Given the description of an element on the screen output the (x, y) to click on. 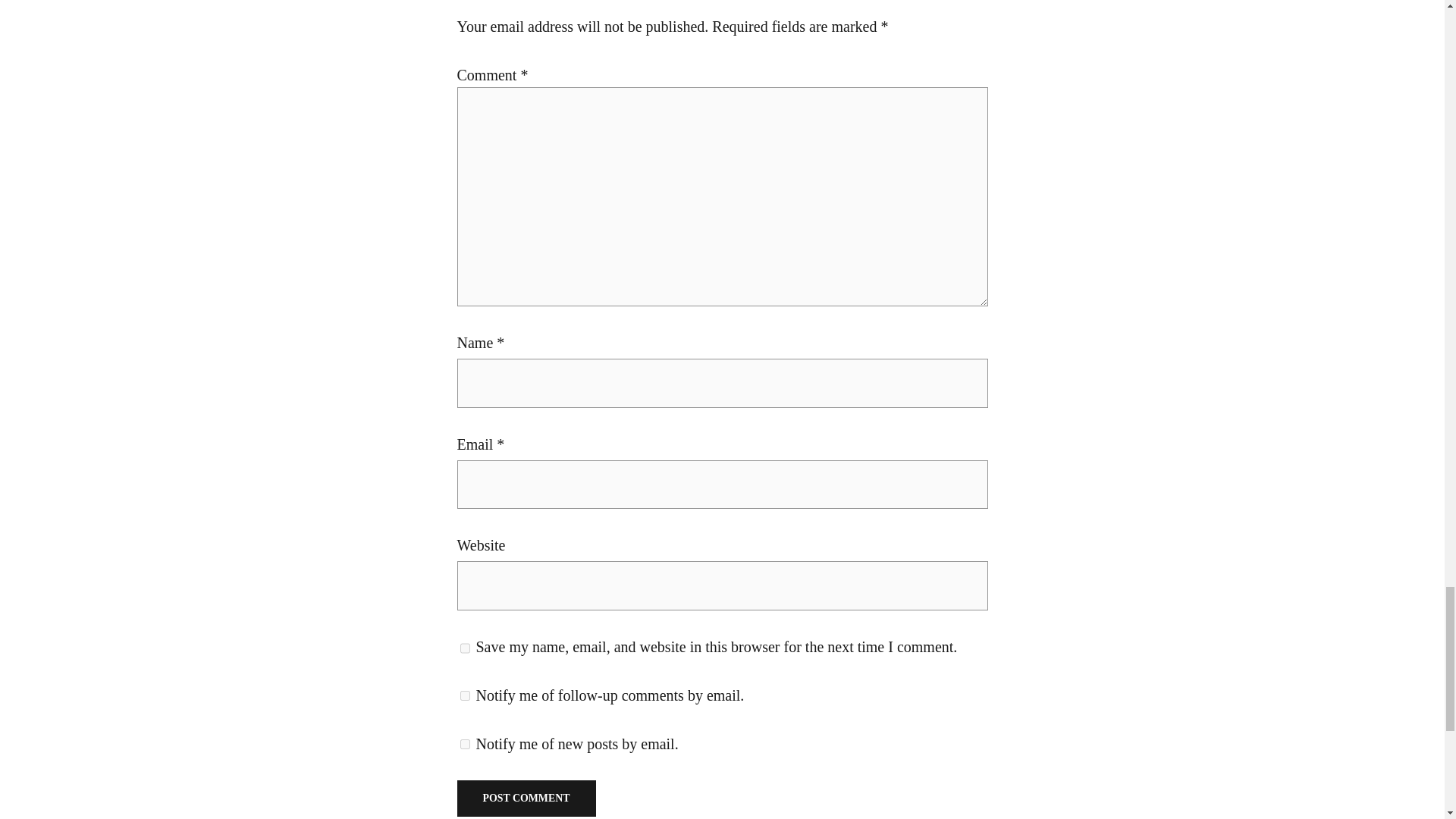
subscribe (464, 696)
Post Comment (526, 798)
Post Comment (526, 798)
subscribe (464, 744)
